Given the description of an element on the screen output the (x, y) to click on. 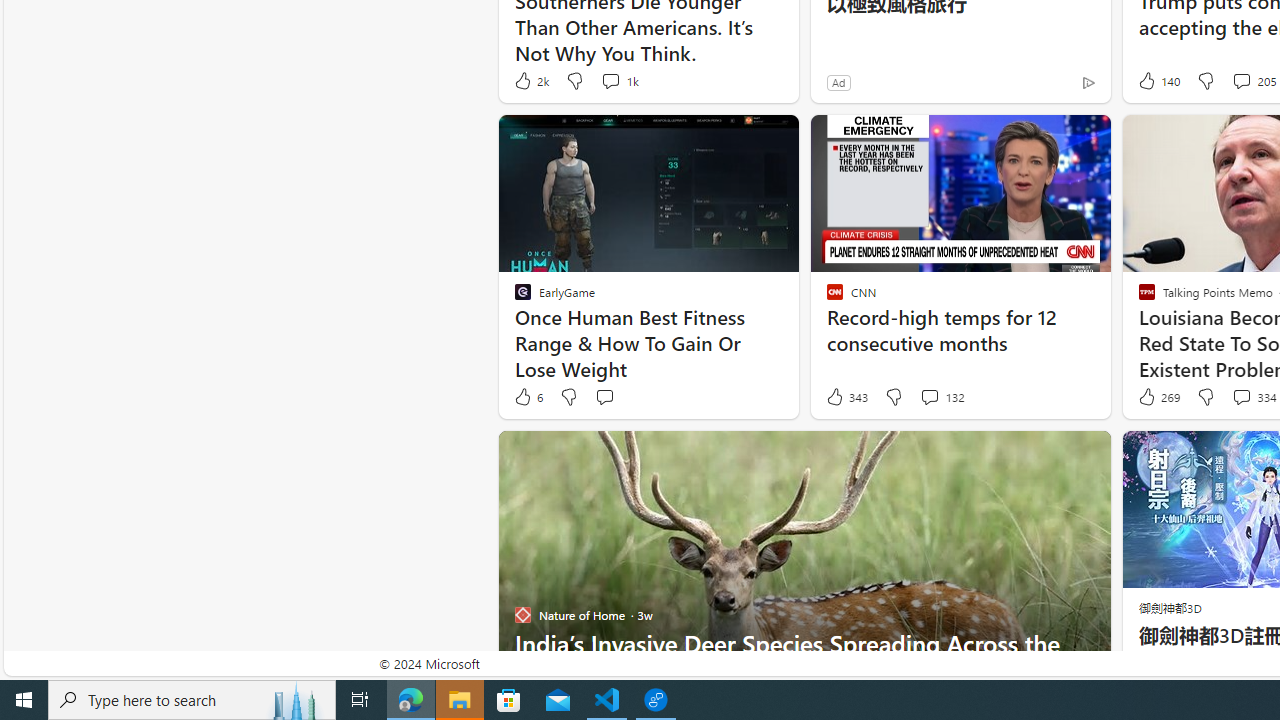
343 Like (845, 397)
2k Like (530, 80)
6 Like (527, 397)
Hide this story (1050, 454)
View comments 1k Comment (610, 80)
View comments 132 Comment (929, 396)
140 Like (1157, 80)
269 Like (1157, 397)
